Given the description of an element on the screen output the (x, y) to click on. 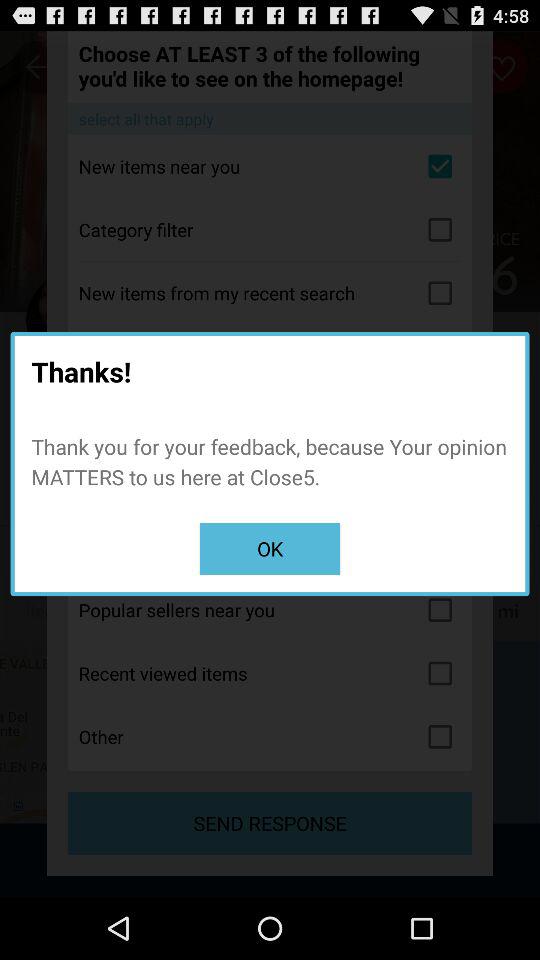
scroll to the ok icon (269, 548)
